Given the description of an element on the screen output the (x, y) to click on. 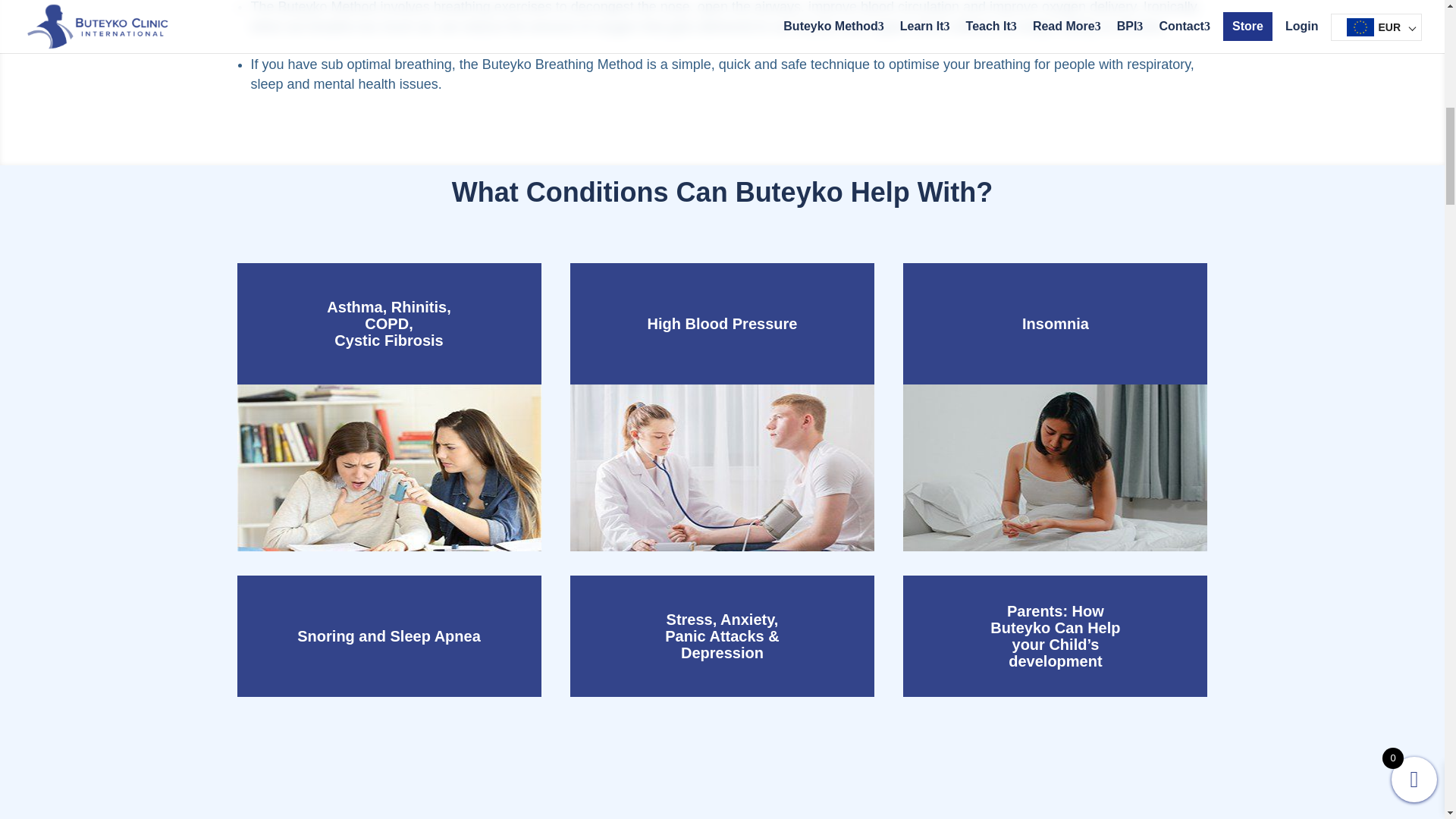
Home 4 (387, 467)
Home 5 (722, 467)
Home 6 (1054, 467)
